Given the description of an element on the screen output the (x, y) to click on. 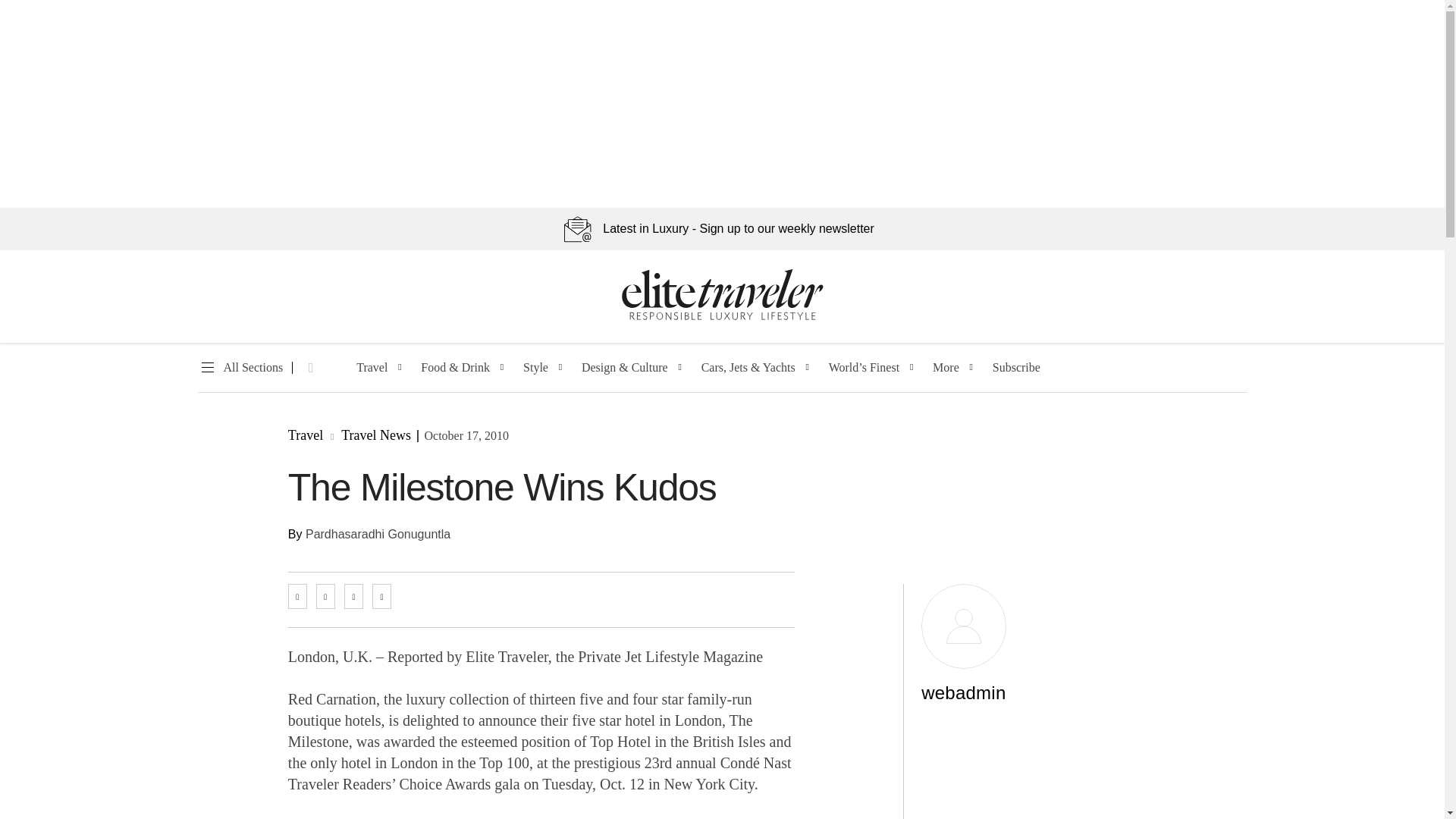
Elite Traveler (722, 317)
Travel (371, 368)
All Sections (239, 368)
